Given the description of an element on the screen output the (x, y) to click on. 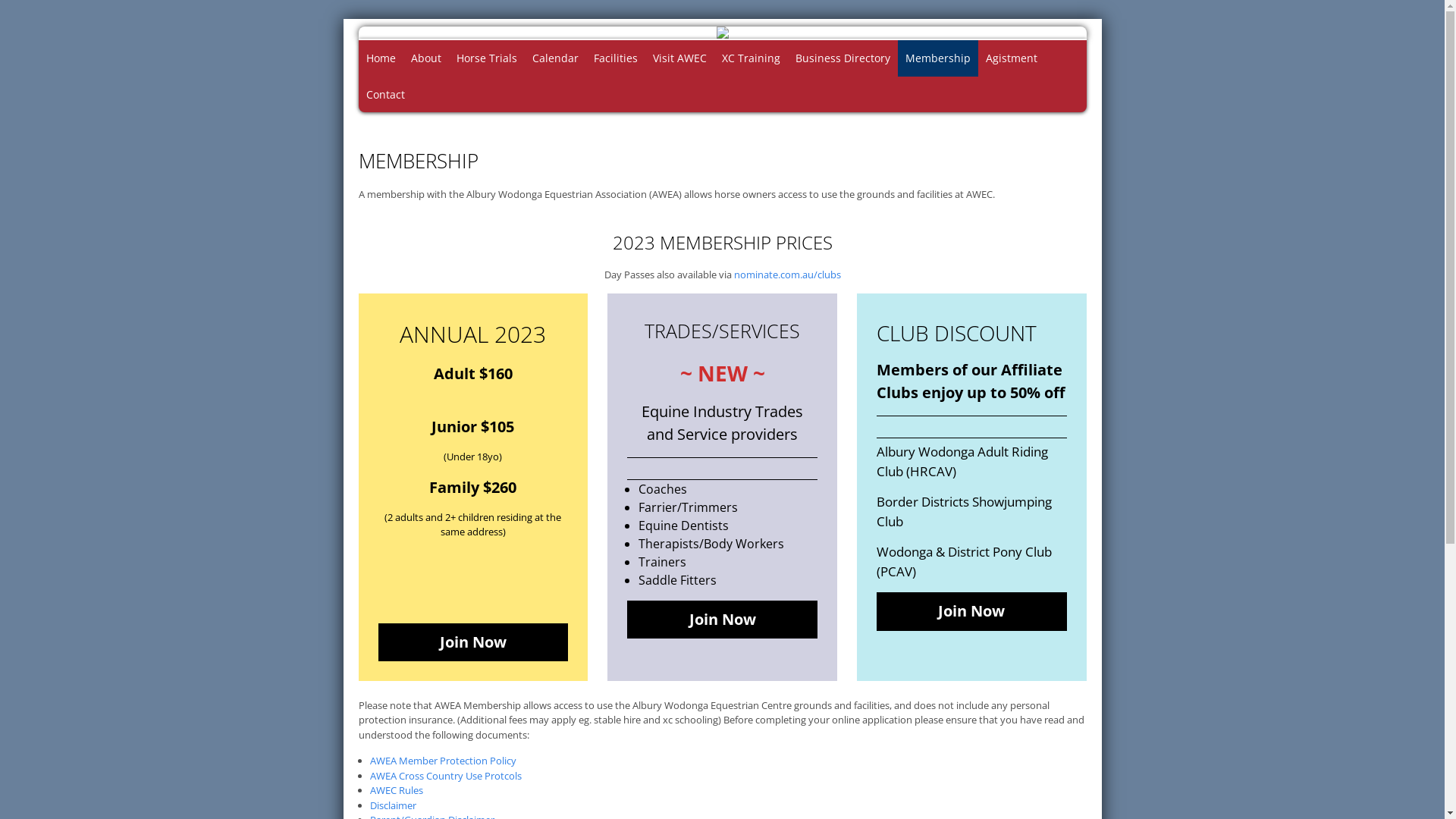
Visit AWEC Element type: text (678, 58)
Horse Trials Element type: text (486, 58)
AWEA Member Protection Policy Element type: text (443, 760)
Join Now Element type: text (472, 642)
Contact Element type: text (384, 93)
XC Training Element type: text (750, 58)
Agistment Element type: text (1011, 58)
Home Element type: text (379, 58)
Join Now Element type: text (722, 619)
AWEC Rules Element type: text (396, 790)
Business Directory Element type: text (842, 58)
nominate.com.au/clubs Element type: text (787, 273)
Join Now Element type: text (971, 611)
Disclaimer  Element type: text (394, 805)
AWEA Cross Country Use Protcols Element type: text (445, 775)
Facilities Element type: text (614, 58)
About Element type: text (425, 58)
Calendar Element type: text (555, 58)
Membership Element type: text (937, 58)
